Given the description of an element on the screen output the (x, y) to click on. 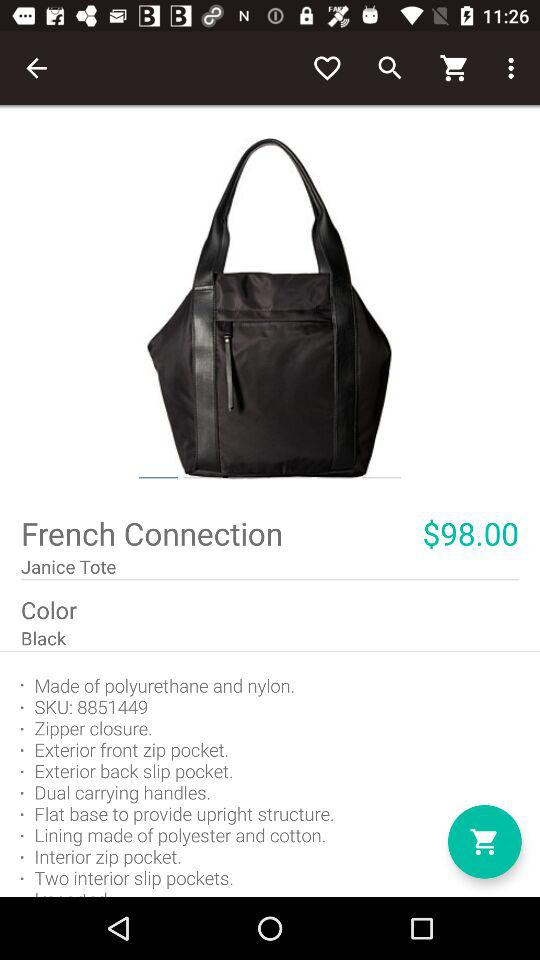
launch the made of polyurethane item (270, 774)
